Given the description of an element on the screen output the (x, y) to click on. 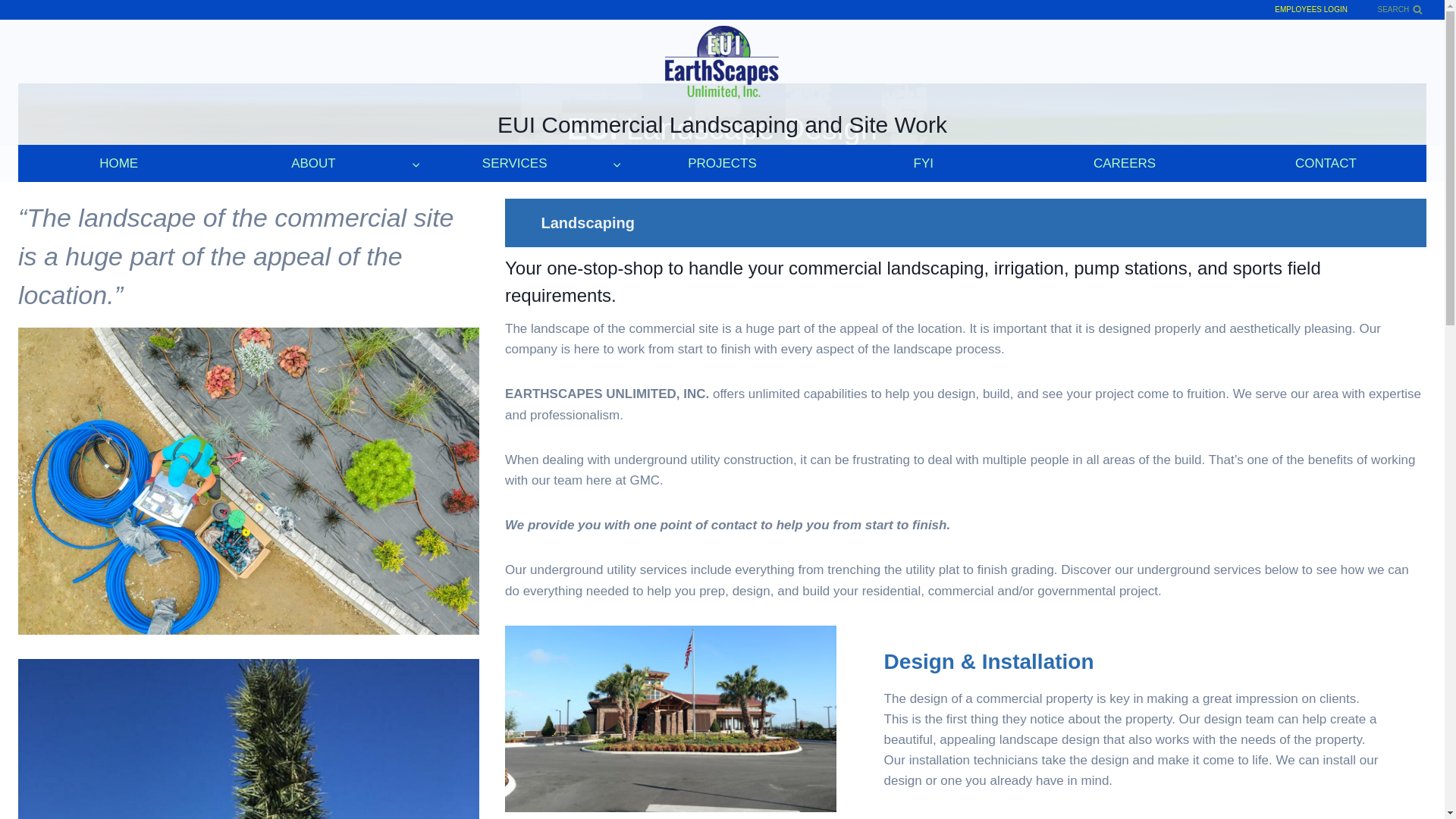
FYI (922, 162)
CAREERS (1123, 162)
CONTACT (1325, 162)
PROJECTS (721, 162)
ABOUT (319, 162)
EUI Commercial Landscaping and Site Work (722, 81)
SERVICES (520, 162)
SEARCH (1400, 9)
EMPLOYEES LOGIN (1311, 9)
HOME (118, 162)
